Given the description of an element on the screen output the (x, y) to click on. 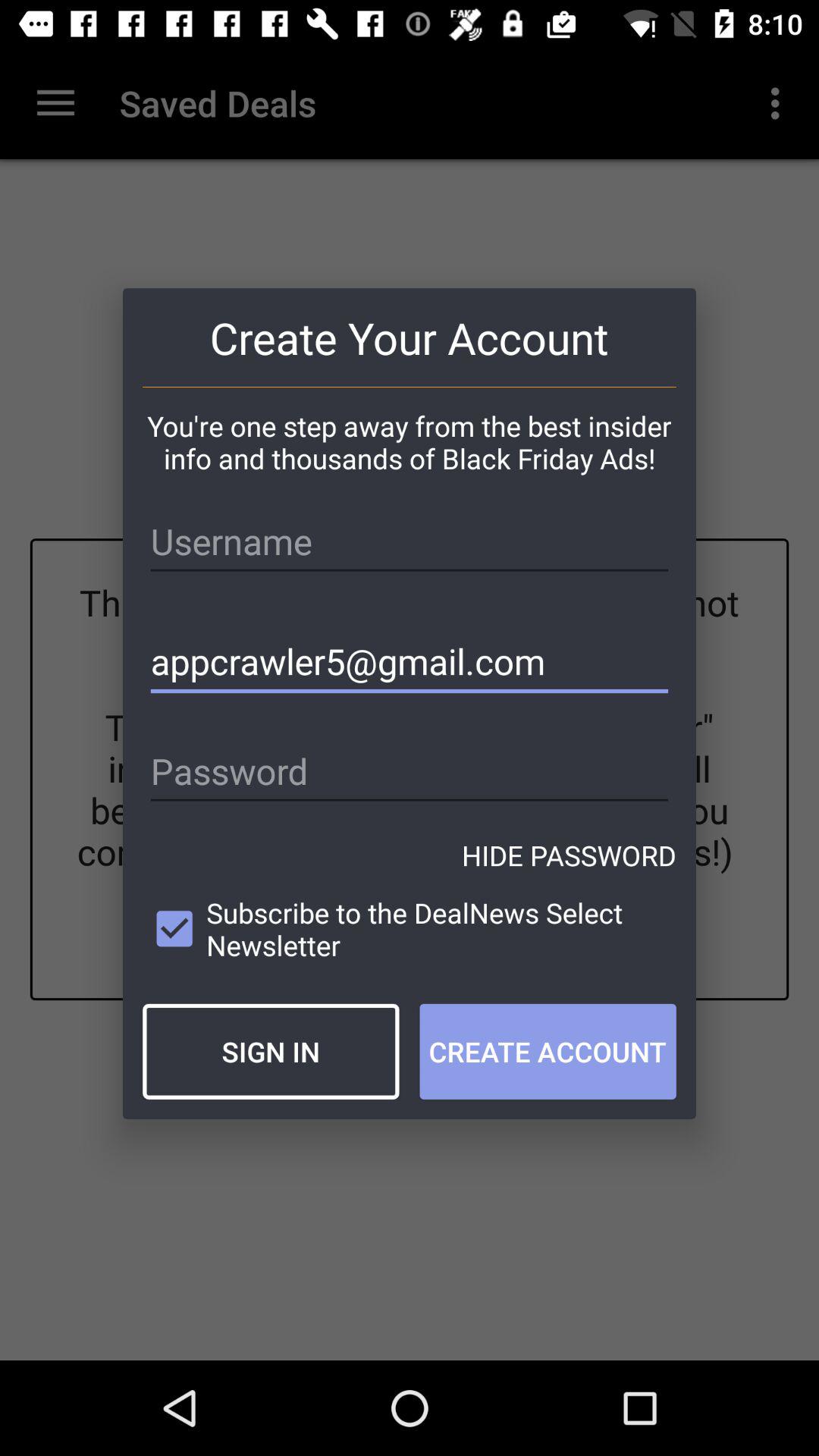
jump to the hide password icon (568, 855)
